Given the description of an element on the screen output the (x, y) to click on. 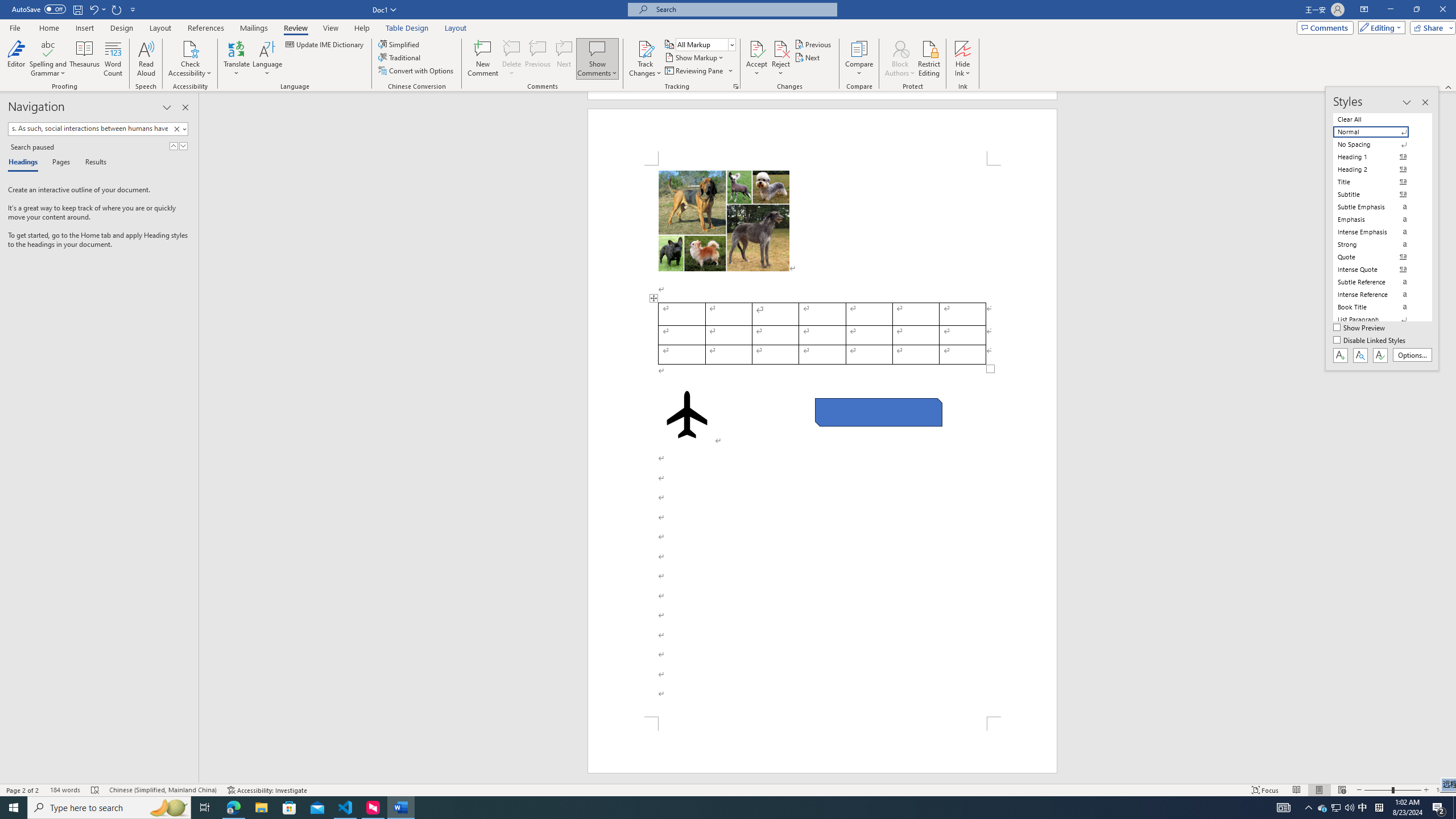
Class: MsoCommandBar (728, 45)
Editor (16, 58)
Book Title (1377, 306)
Mailings (253, 28)
Undo Style (92, 9)
Translate (236, 58)
Undo Style (96, 9)
Insert (83, 28)
List Paragraph (1377, 319)
Change Tracking Options... (735, 85)
Previous Result (173, 145)
Heading 1 (1377, 156)
